Given the description of an element on the screen output the (x, y) to click on. 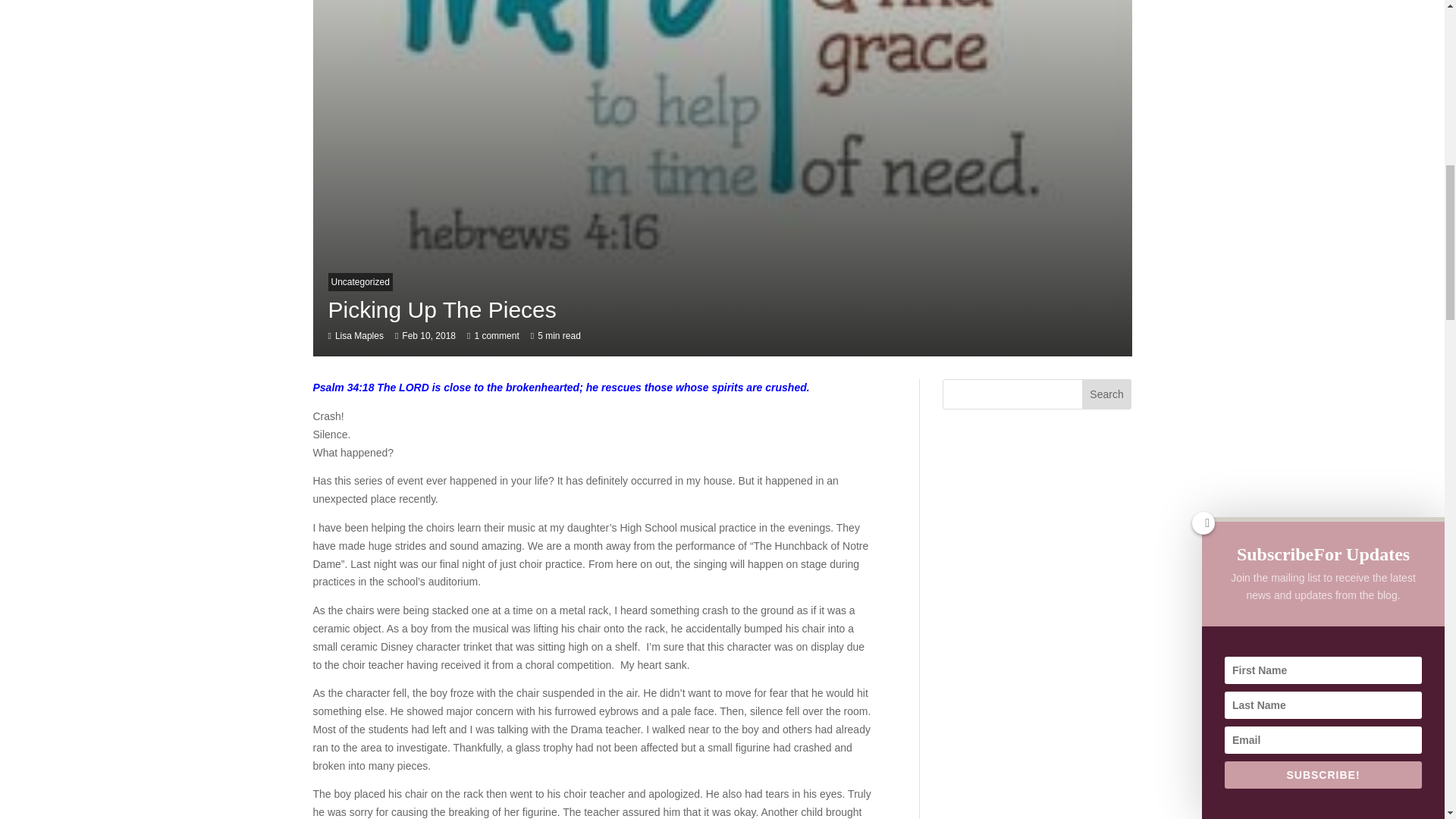
Search (1106, 394)
Lisa Maples (359, 335)
Posts by Lisa Maples (359, 335)
Uncategorized (359, 281)
1 comment (496, 335)
Search (1106, 394)
